Given the description of an element on the screen output the (x, y) to click on. 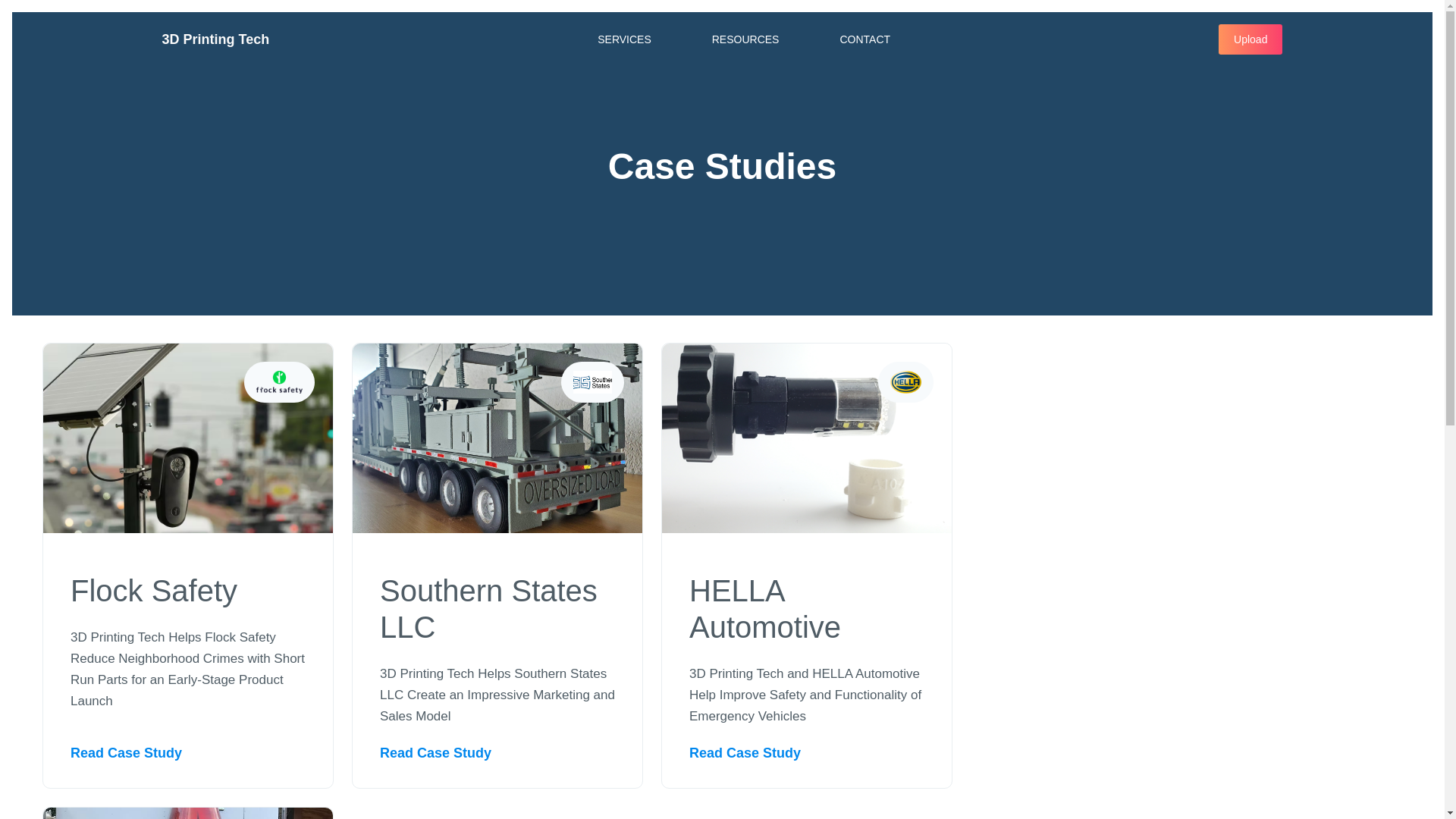
Upload Element type: text (1250, 39)
3D Printing Tech Element type: text (215, 39)
CONTACT Element type: text (864, 38)
